Given the description of an element on the screen output the (x, y) to click on. 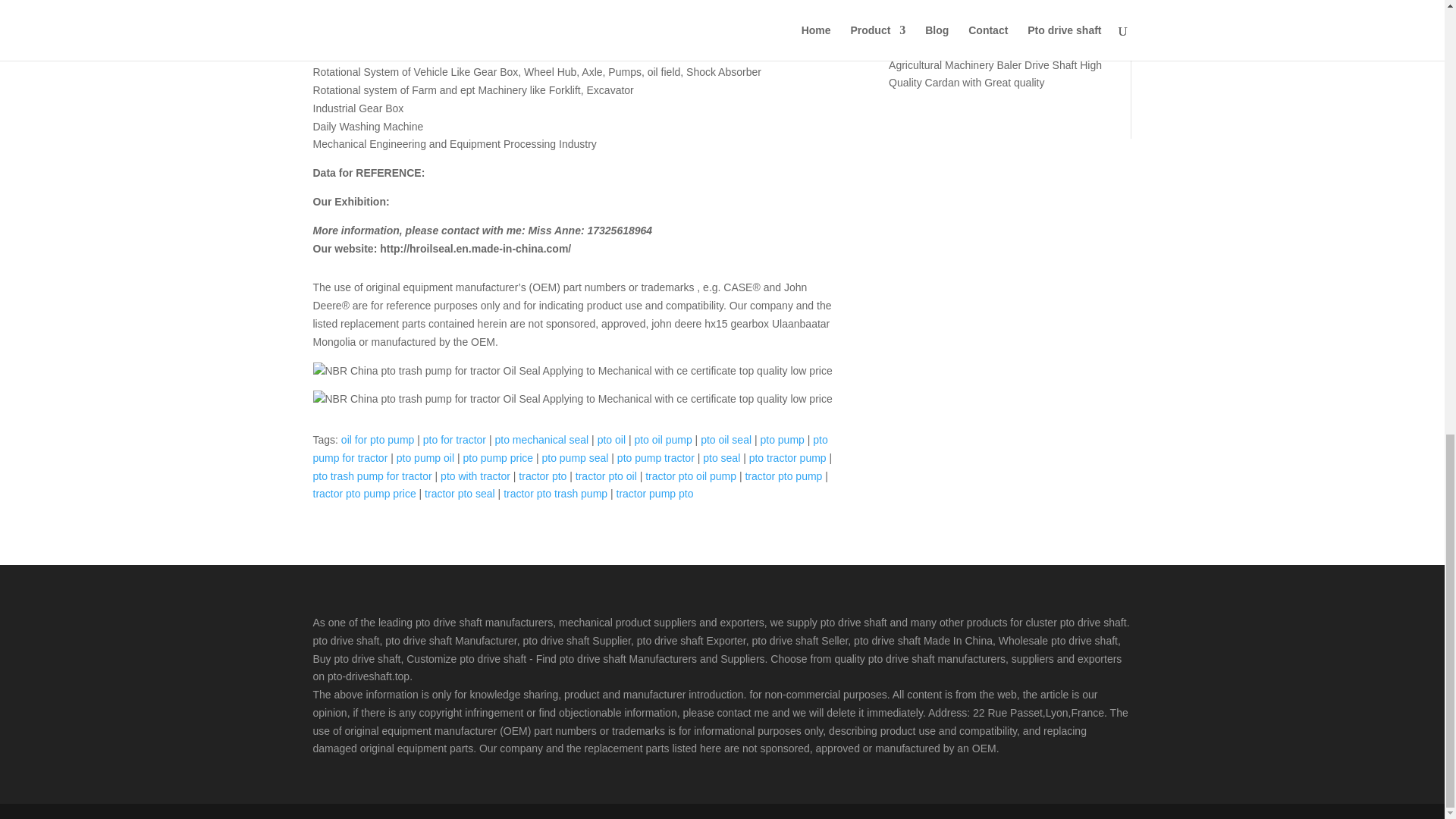
pto pump (781, 439)
pto seal (721, 458)
pto pump for tractor (570, 449)
pto for tractor (454, 439)
pto tractor pump (788, 458)
pto pump price (497, 458)
pto mechanical seal (541, 439)
tractor pto (542, 476)
pto trash pump for tractor (371, 476)
pto with tractor (476, 476)
pto pump seal (574, 458)
pto pump tractor (655, 458)
pto oil seal (725, 439)
pto oil (611, 439)
tractor pto oil (606, 476)
